Given the description of an element on the screen output the (x, y) to click on. 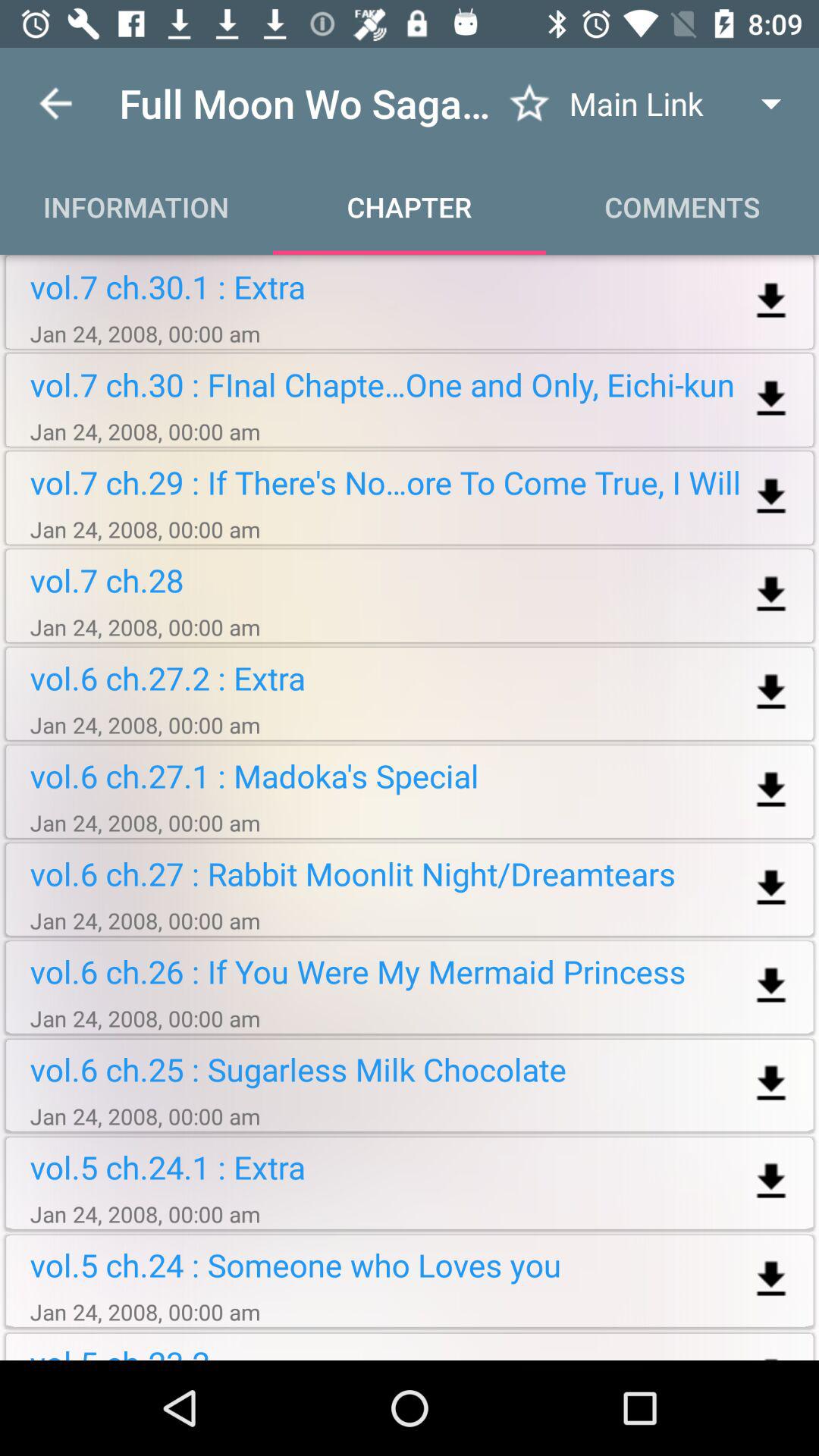
download the chapter (771, 790)
